Given the description of an element on the screen output the (x, y) to click on. 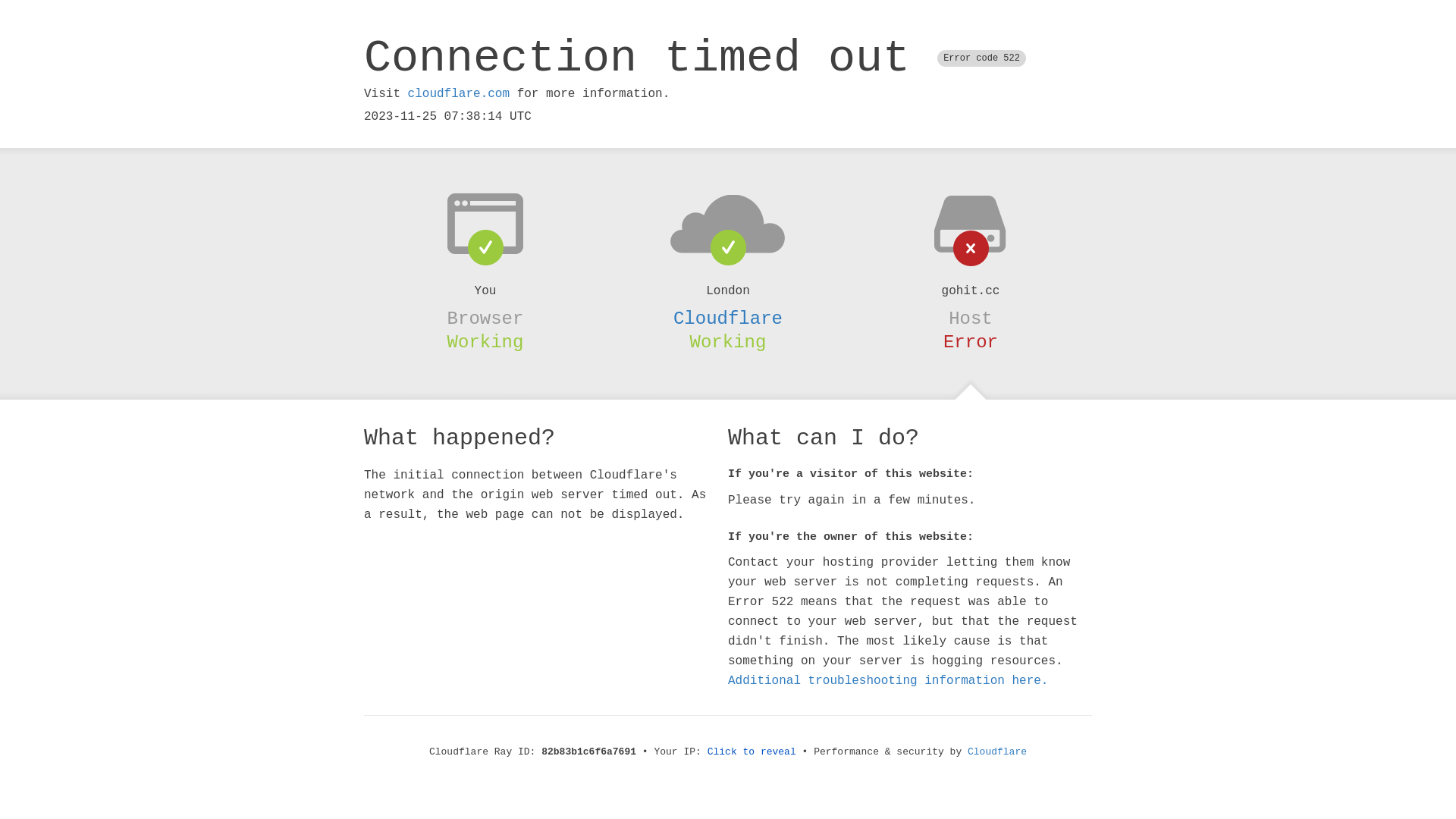
Click to reveal Element type: text (751, 751)
Cloudflare Element type: text (727, 318)
Additional troubleshooting information here. Element type: text (888, 680)
Cloudflare Element type: text (996, 751)
cloudflare.com Element type: text (458, 93)
